Given the description of an element on the screen output the (x, y) to click on. 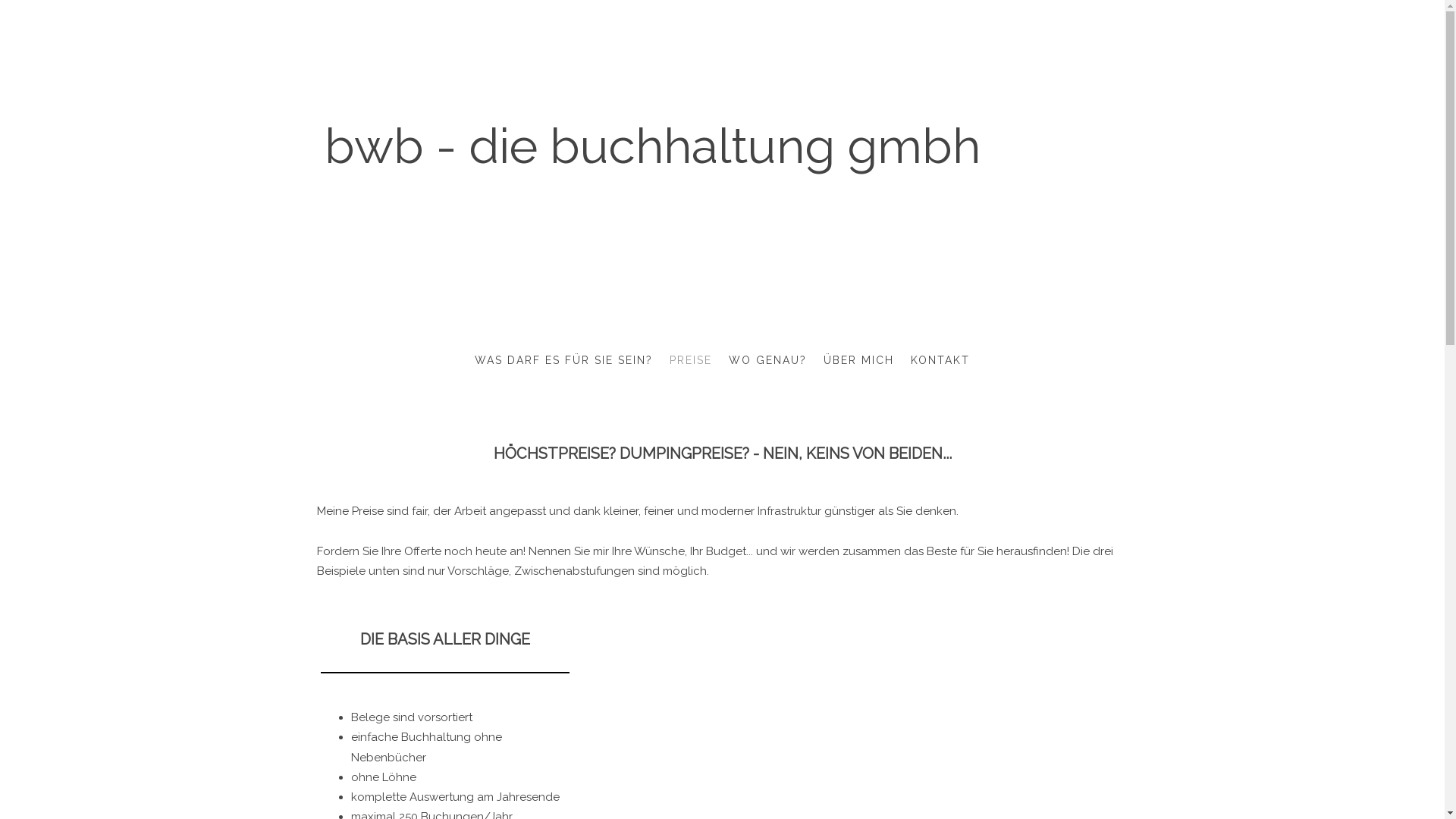
bwb - die buchhaltung gmbh Element type: text (652, 158)
PREISE Element type: text (690, 360)
KONTAKT Element type: text (940, 360)
WO GENAU? Element type: text (767, 360)
